Given the description of an element on the screen output the (x, y) to click on. 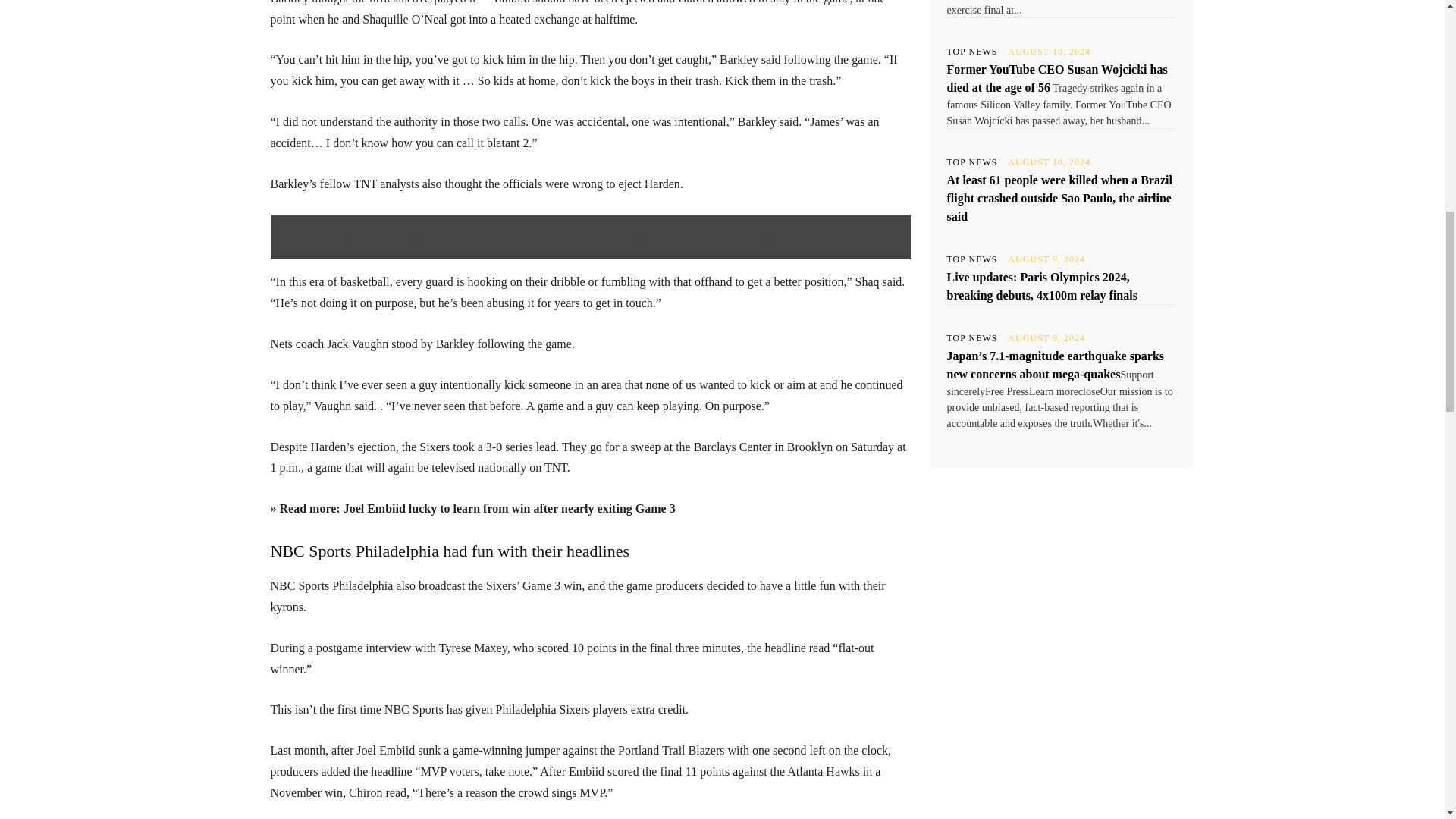
Former YouTube CEO Susan Wojcicki has died at the age of 56 (1056, 78)
TOP NEWS (971, 258)
TOP NEWS (971, 51)
TOP NEWS (971, 338)
Former YouTube CEO Susan Wojcicki has died at the age of 56 (1056, 78)
TOP NEWS (971, 162)
